Given the description of an element on the screen output the (x, y) to click on. 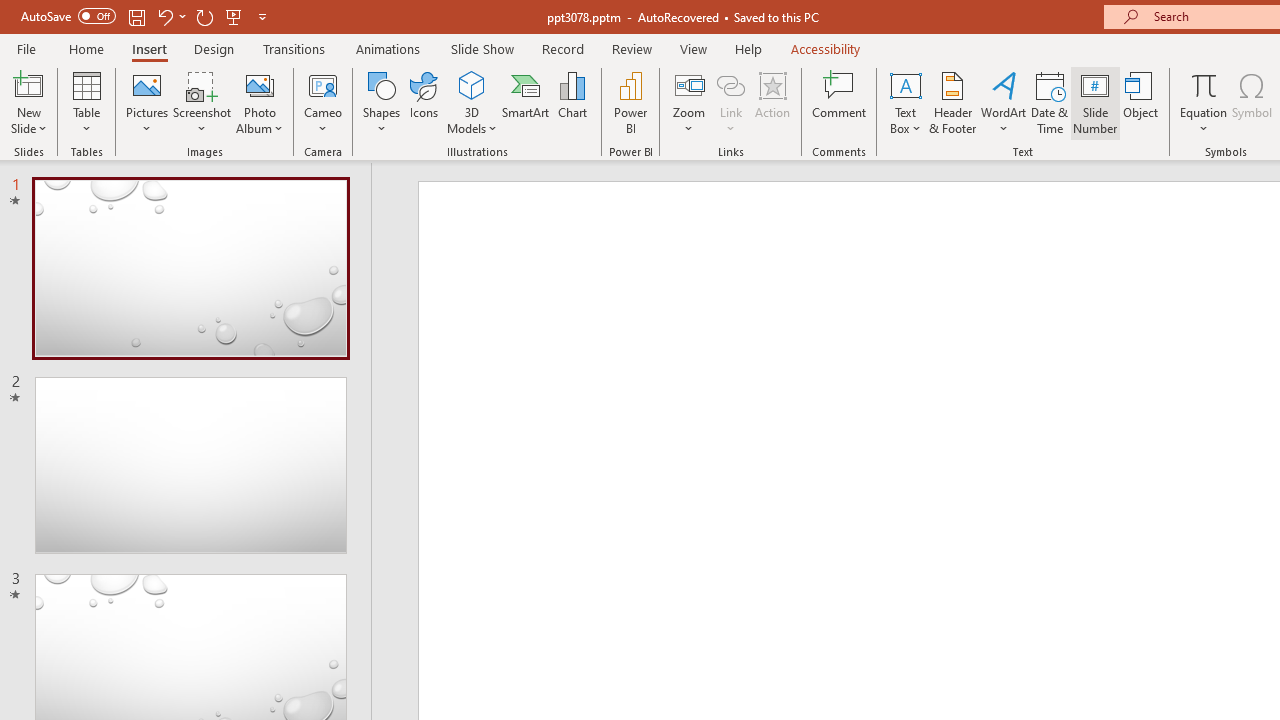
Comment (839, 102)
Photo Album... (259, 102)
Table (86, 102)
